Given the description of an element on the screen output the (x, y) to click on. 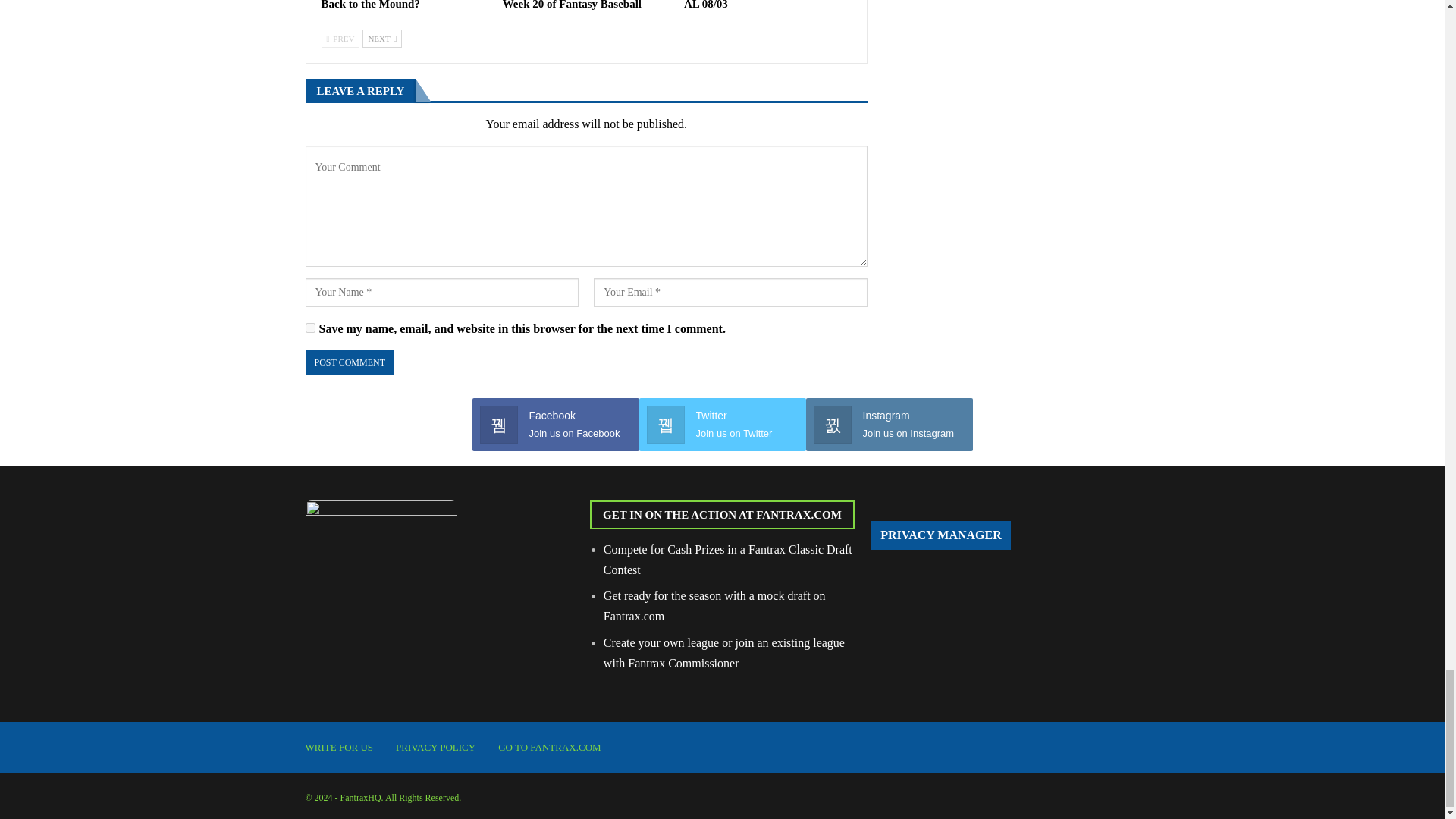
Pitching Streamers to Target in Week 20 of Fantasy Baseball (578, 4)
MLB Injury Report: Gerrit Cole Back to the Mound? (401, 4)
Post Comment (348, 362)
yes (309, 327)
